Given the description of an element on the screen output the (x, y) to click on. 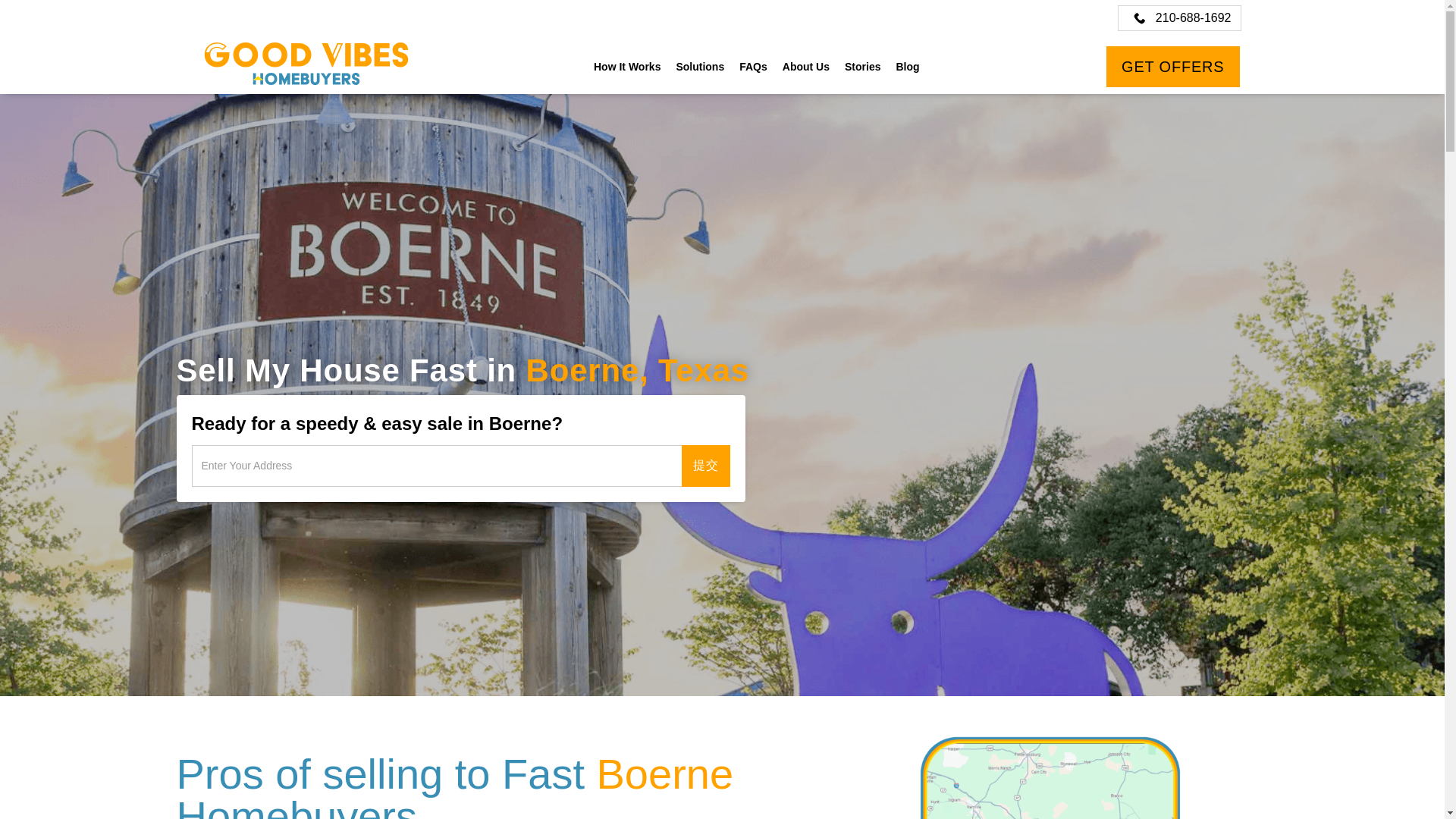
How It Works (627, 66)
GET OFFERS (1172, 66)
Solutions (700, 66)
FAQs (753, 66)
210-688-1692 (1179, 17)
Stories (862, 66)
About Us (805, 66)
Blog (907, 66)
